Given the description of an element on the screen output the (x, y) to click on. 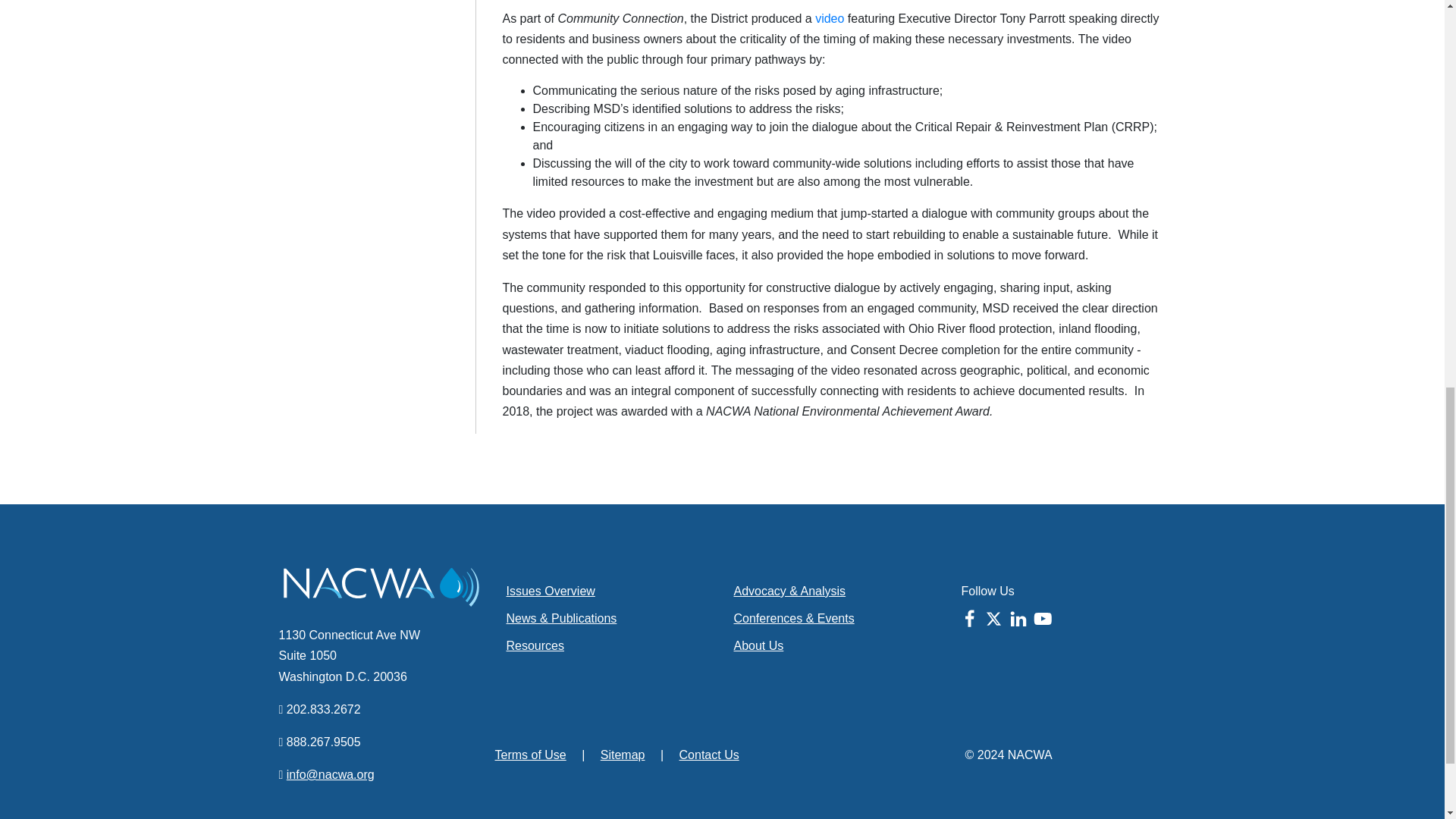
nacwa-logo-white-f (381, 587)
